Given the description of an element on the screen output the (x, y) to click on. 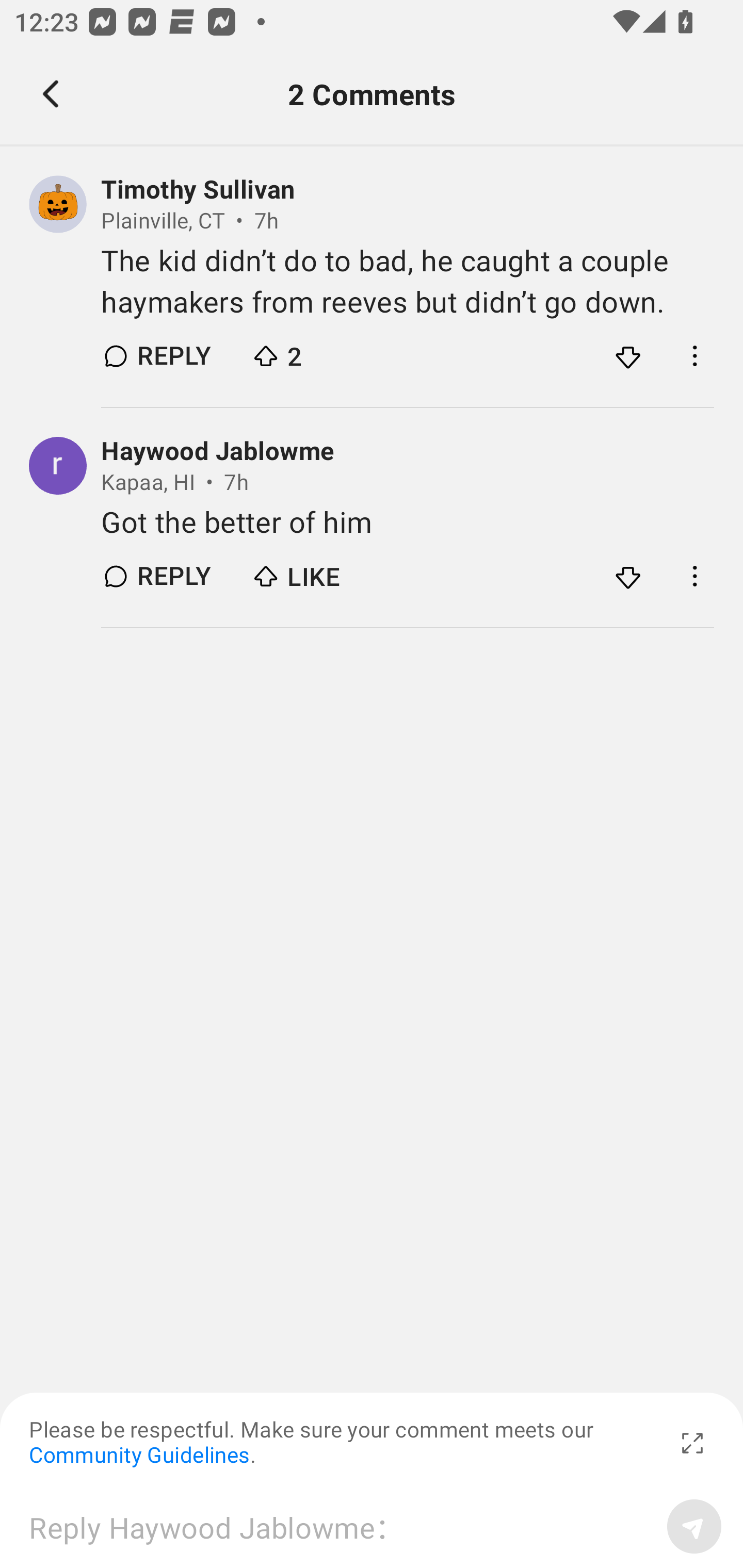
Reply Haywood Jablowme： (340, 1526)
